Given the description of an element on the screen output the (x, y) to click on. 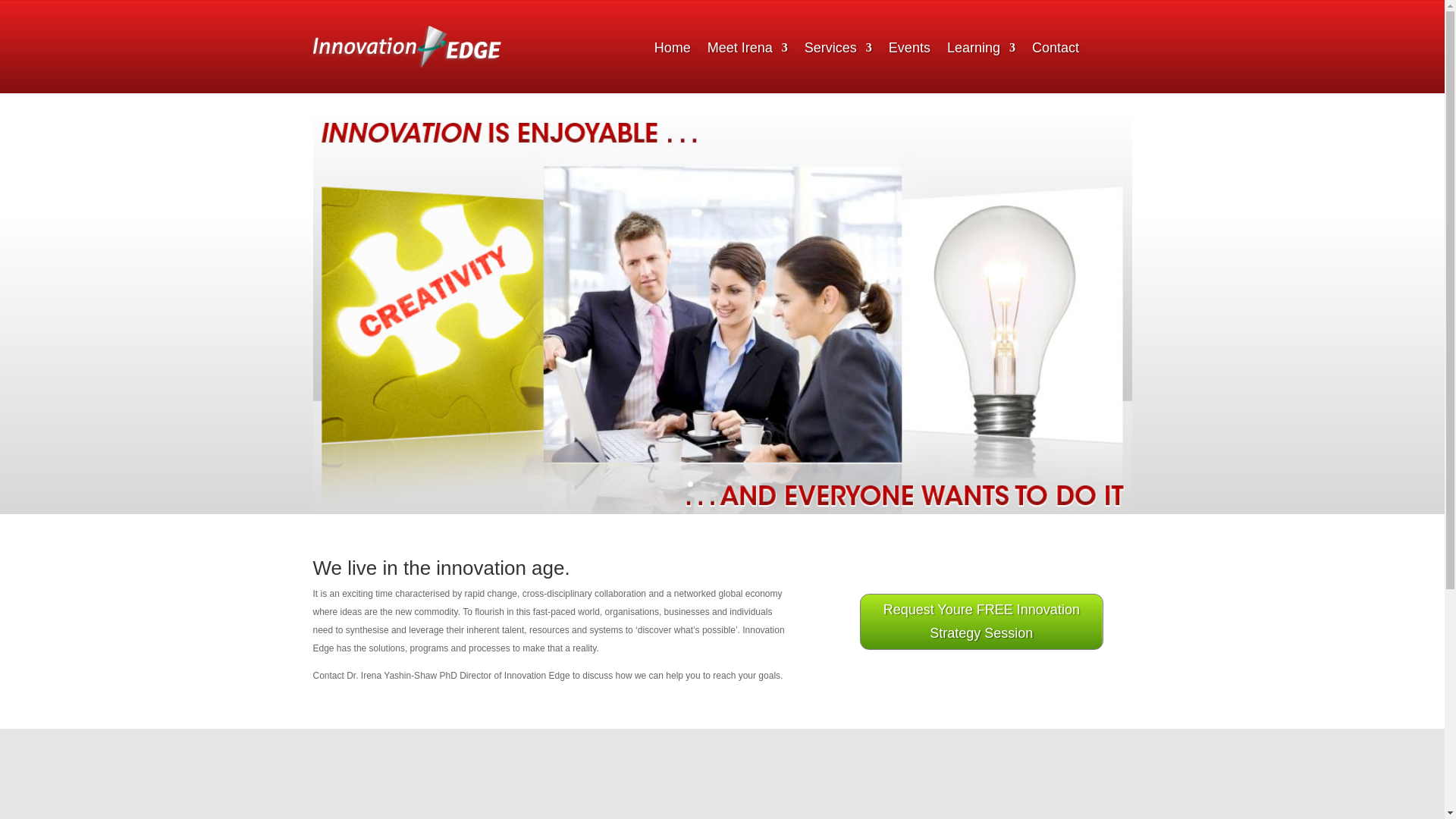
Contact (1055, 50)
Meet Irena (747, 50)
Dr. Irena Yashin-Shaw - Show Reel (937, 804)
Home (671, 50)
Services (838, 50)
Events (909, 50)
Learning (980, 50)
